Given the description of an element on the screen output the (x, y) to click on. 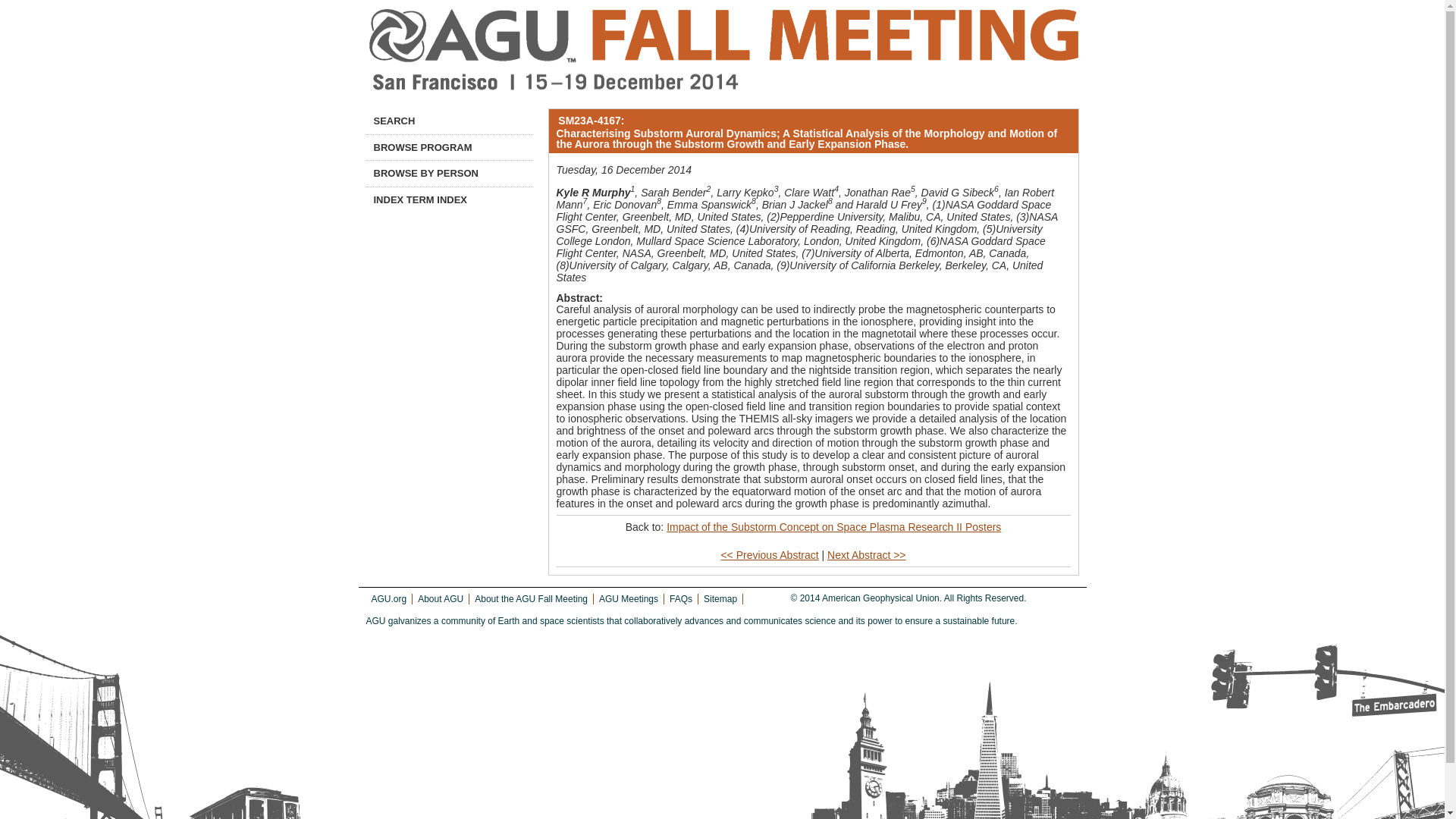
BROWSE PROGRAM (448, 147)
Sitemap (719, 598)
INDEX TERM INDEX (448, 199)
BROWSE BY PERSON (448, 173)
AGU.org (389, 598)
SEARCH (448, 121)
AGU Meetings (628, 598)
FAQs (681, 598)
About AGU (440, 598)
About the AGU Fall Meeting (531, 598)
